Given the description of an element on the screen output the (x, y) to click on. 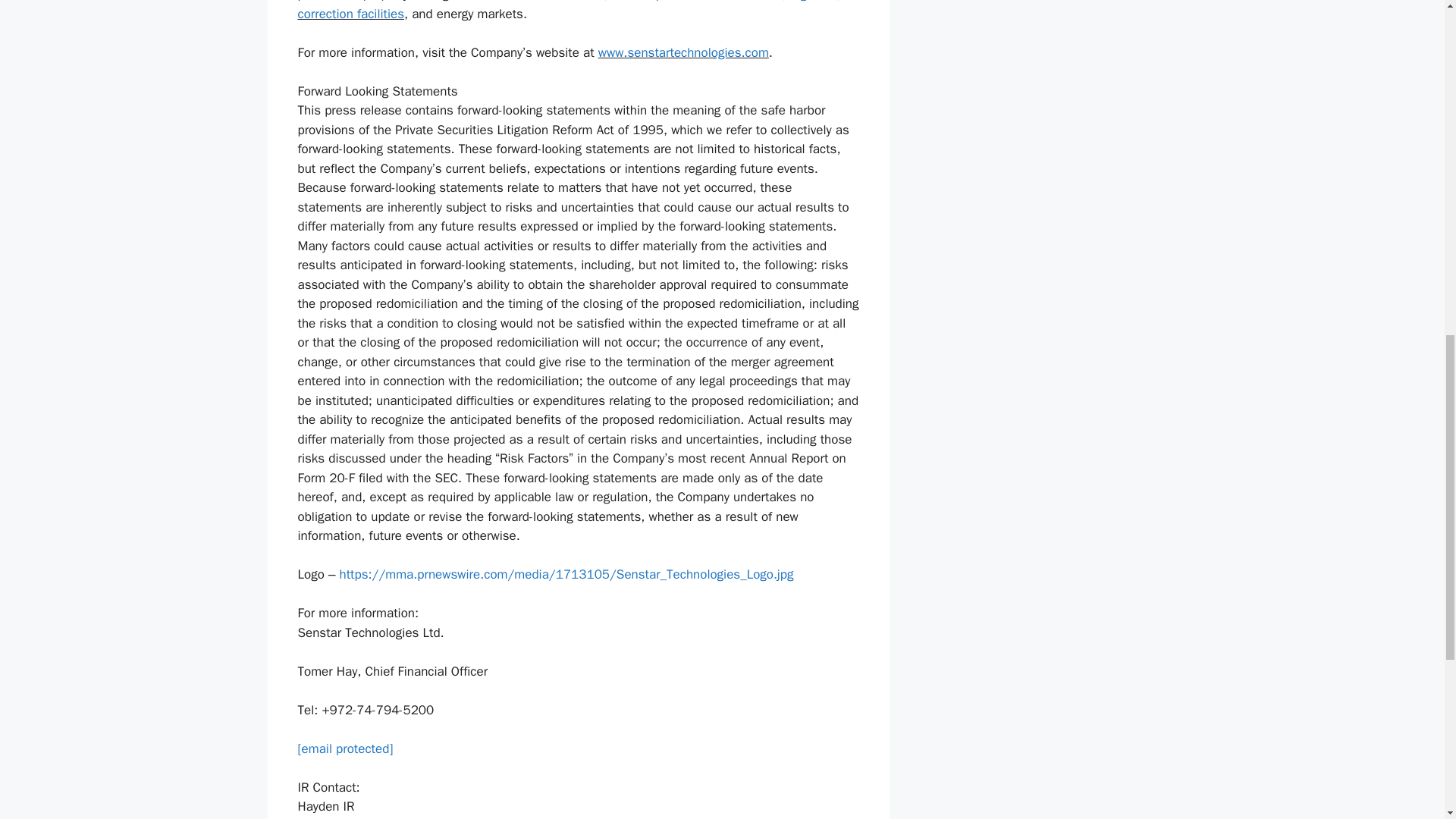
correction facilities (350, 13)
utilities (761, 1)
Scroll back to top (1406, 720)
www.senstartechnologies.com (683, 52)
logistics (812, 1)
